Given the description of an element on the screen output the (x, y) to click on. 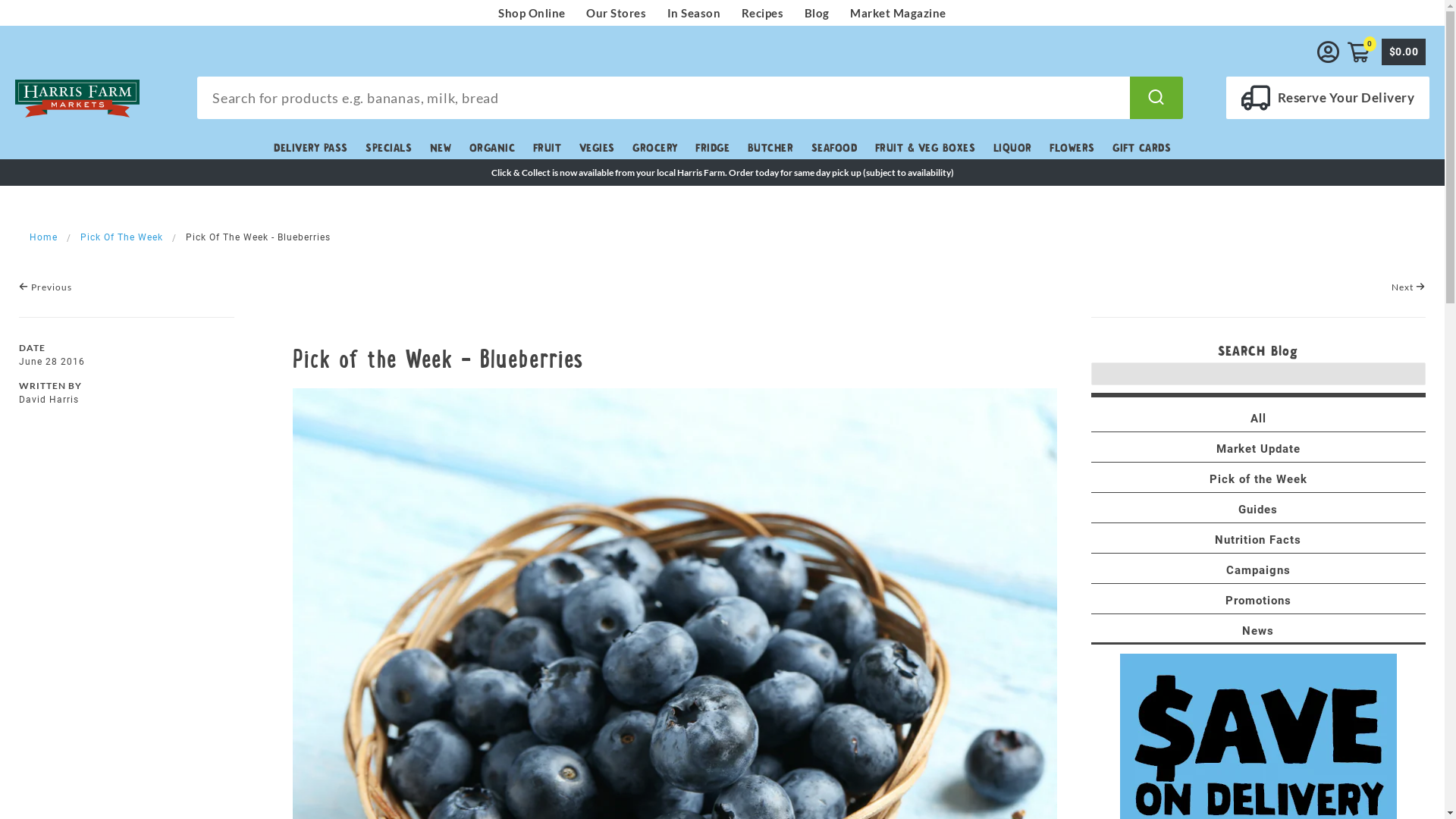
Home Element type: text (43, 237)
SPECIALS Element type: text (388, 147)
Nutrition Facts Element type: text (1257, 539)
Previous Element type: text (45, 286)
DELIVERY PASS Element type: text (310, 147)
Blog Element type: text (816, 12)
Recipes Element type: text (762, 12)
In Season Element type: text (694, 12)
FRUIT Element type: text (546, 147)
FRUIT & VEG BOXES Element type: text (925, 147)
SEAFOOD Element type: text (834, 147)
GIFT CARDS Element type: text (1141, 147)
LIQUOR Element type: text (1012, 147)
Market Magazine Element type: text (897, 12)
Shop Online Element type: text (531, 12)
BUTCHER Element type: text (770, 147)
Pick of the Week Element type: text (1258, 479)
Harris Farm Markets Element type: hover (77, 97)
GROCERY Element type: text (654, 147)
Campaigns Element type: text (1258, 570)
$0.00 Element type: text (1403, 51)
Promotions Element type: text (1258, 600)
All Element type: text (1258, 418)
Guides Element type: text (1257, 509)
Pick of the Week - Blueberries Element type: text (437, 354)
Pick Of The Week Element type: text (121, 237)
Market Update Element type: text (1258, 448)
FRIDGE Element type: text (712, 147)
News Element type: text (1258, 630)
Our Stores Element type: text (616, 12)
Reserve Your Delivery Element type: text (1327, 103)
VEGIES Element type: text (596, 147)
FLOWERS Element type: text (1071, 147)
Buy Blueberries Online Element type: hover (674, 769)
ORGANIC Element type: text (491, 147)
Next Element type: text (1408, 286)
NEW Element type: text (439, 147)
0 Element type: text (1360, 52)
